Given the description of an element on the screen output the (x, y) to click on. 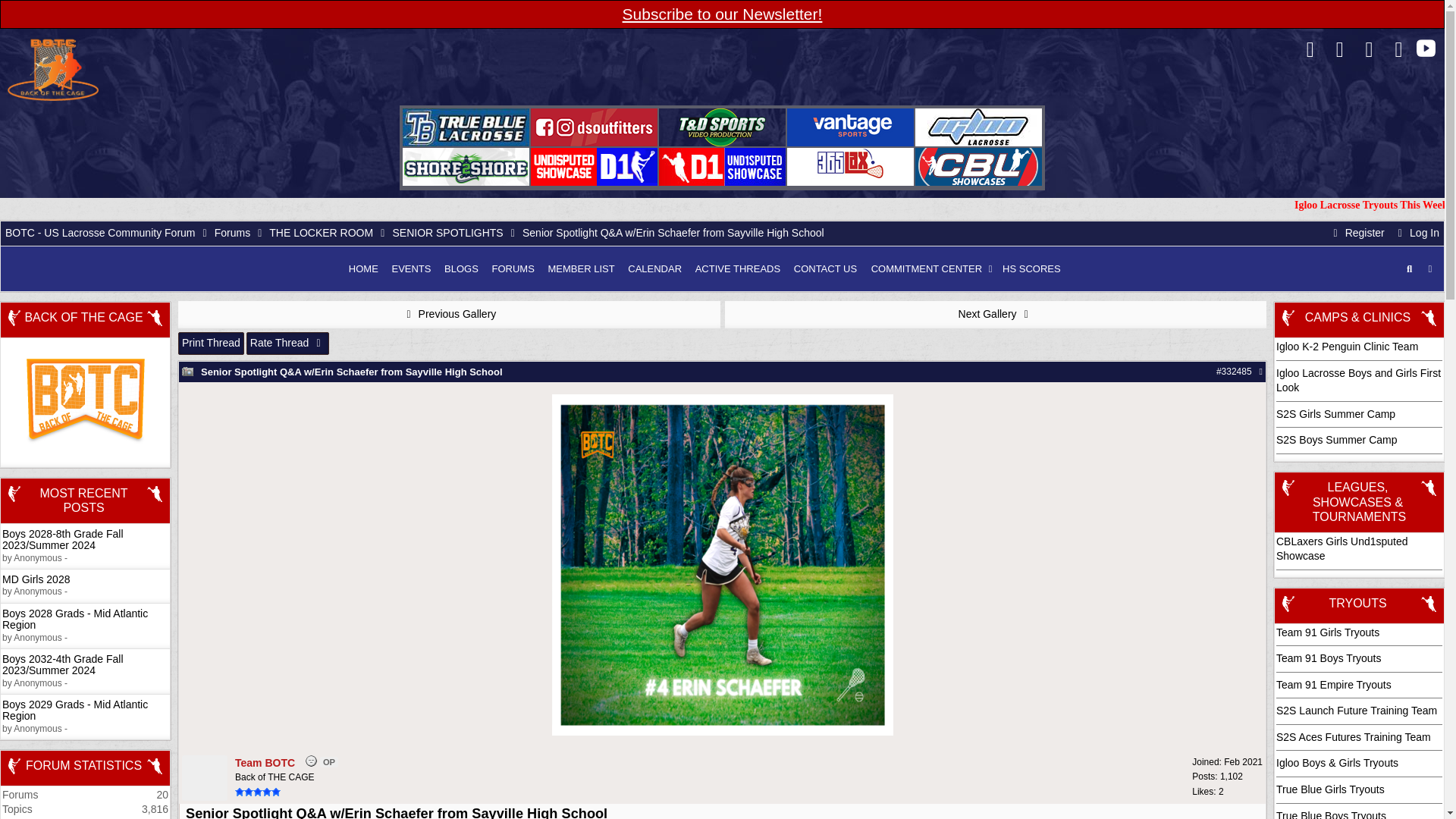
CB Laxers UnD1sputed Showcase (722, 166)
Visit us on YouTube! (1426, 49)
365Lax (850, 166)
TD Sports (722, 127)
Visit us on Facebook! (1310, 52)
True Blue Lacrosse (466, 127)
Download our App on the Play Store! (1368, 52)
Vantage Sports (850, 127)
CB Laxers (978, 166)
Visit us on Instagram! (1399, 52)
Visit us on Twitter! (1339, 52)
Downstream Outfitters (594, 127)
Shore 2 Shore Lacrosse (466, 166)
Girls UnD1sputed Showcase (594, 166)
Igloo Lacrosse (978, 127)
